Given the description of an element on the screen output the (x, y) to click on. 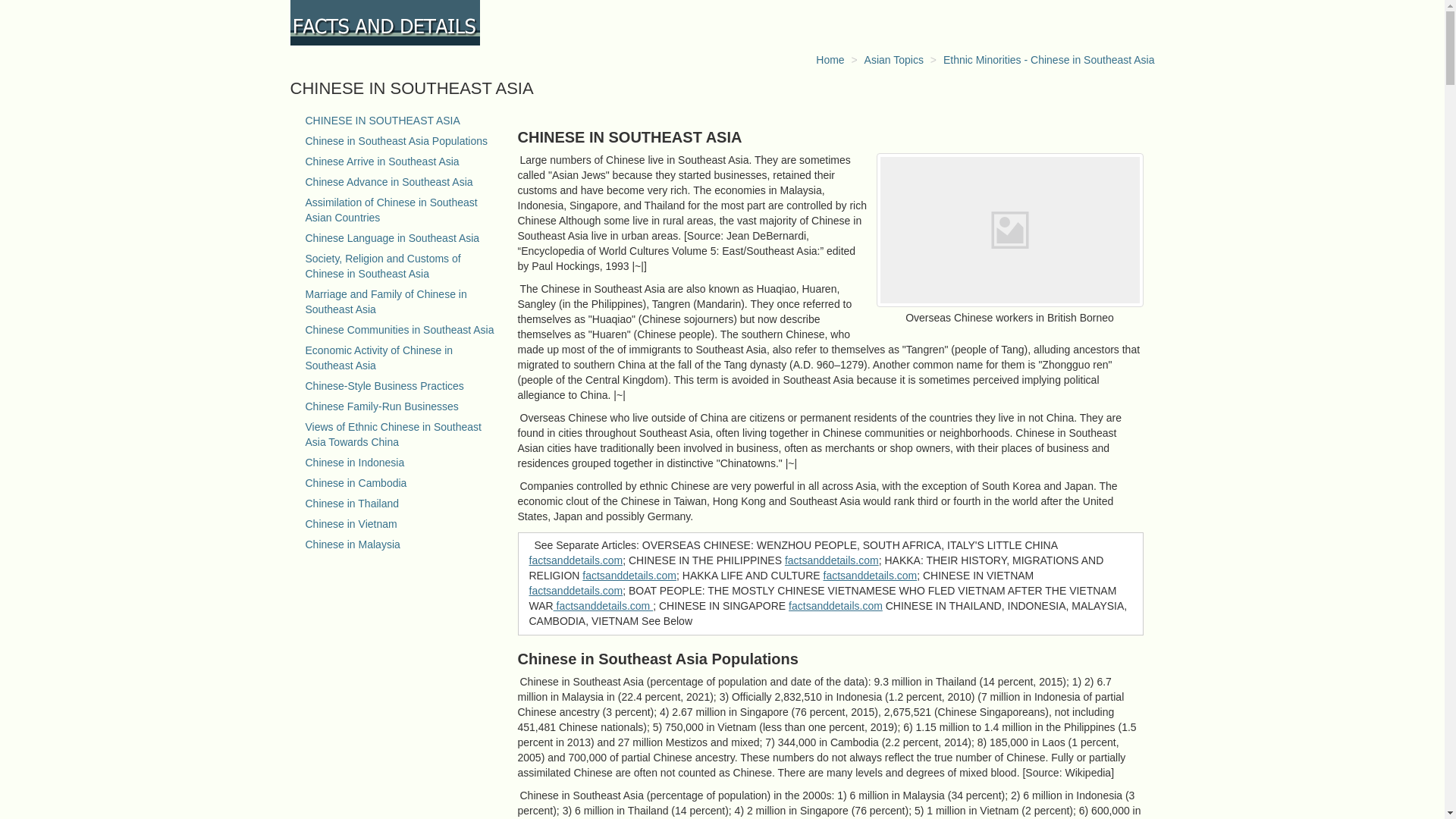
factsanddetails.com (870, 575)
Chinese Advance in Southeast Asia (387, 182)
Chinese in Indonesia (354, 462)
Marriage and Family of Chinese in Southeast Asia (384, 301)
CHINESE IN SOUTHEAST ASIA (382, 120)
Chinese-Style Business Practices (383, 386)
factsanddetails.com (576, 590)
Chinese Arrive in Southeast Asia (381, 161)
factsanddetails.com (835, 605)
factsanddetails.com (603, 605)
